Given the description of an element on the screen output the (x, y) to click on. 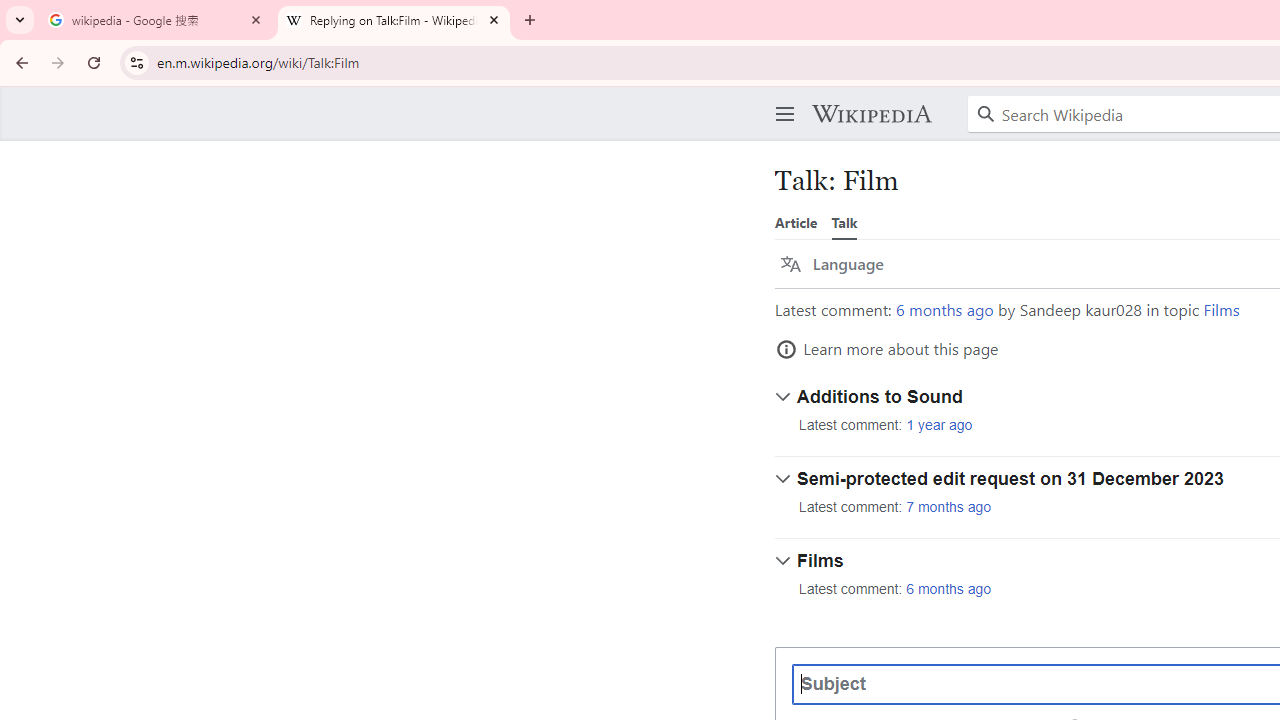
7 months ago (949, 507)
Wikipedia (871, 114)
1 year ago (939, 425)
Learn more about this page (887, 349)
